Given the description of an element on the screen output the (x, y) to click on. 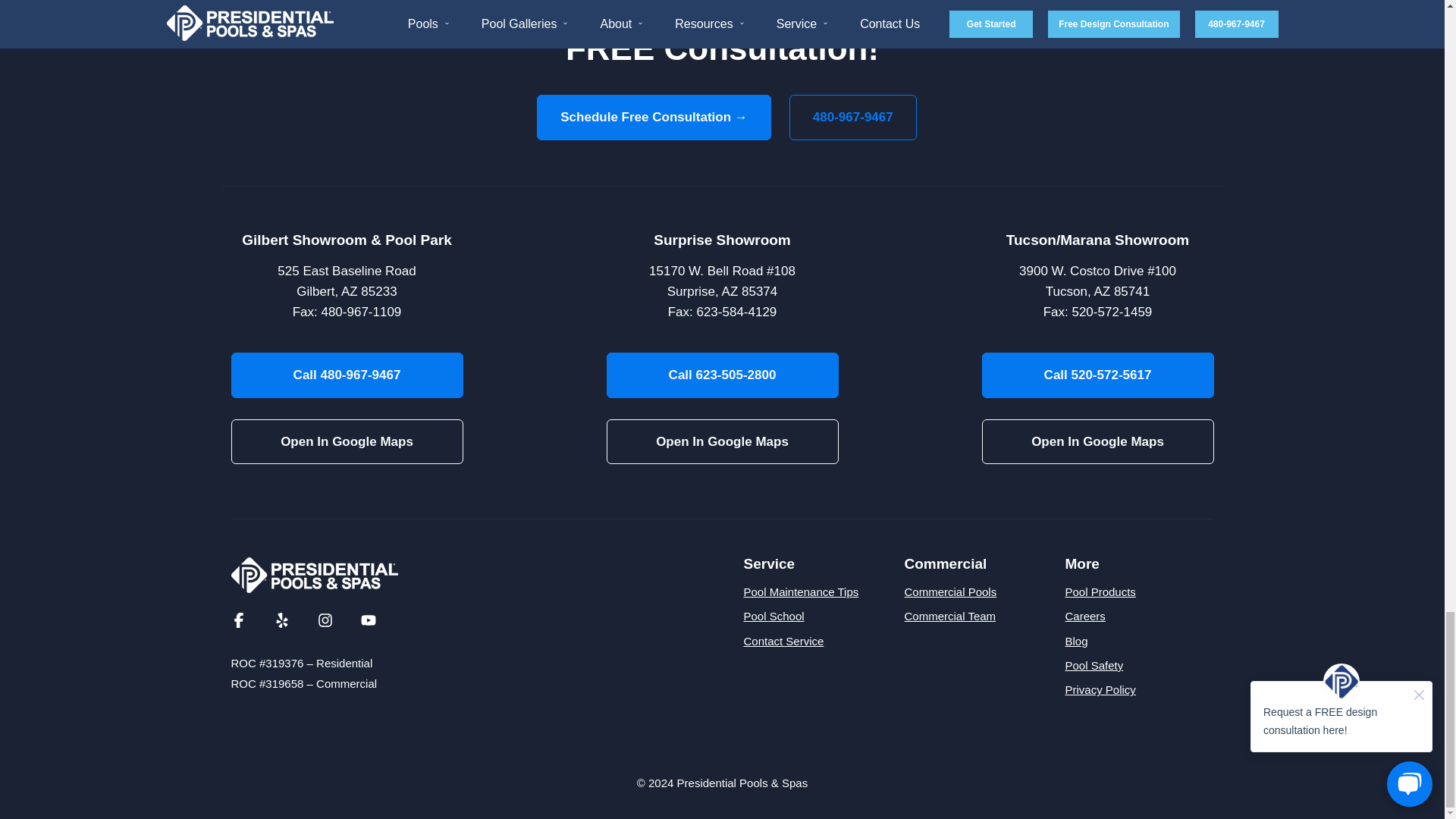
Instagram (324, 619)
Schedule Free Consultation (654, 117)
YouTube (368, 619)
480-967-9467  (853, 117)
Yelp (282, 619)
Facebook (238, 619)
